Given the description of an element on the screen output the (x, y) to click on. 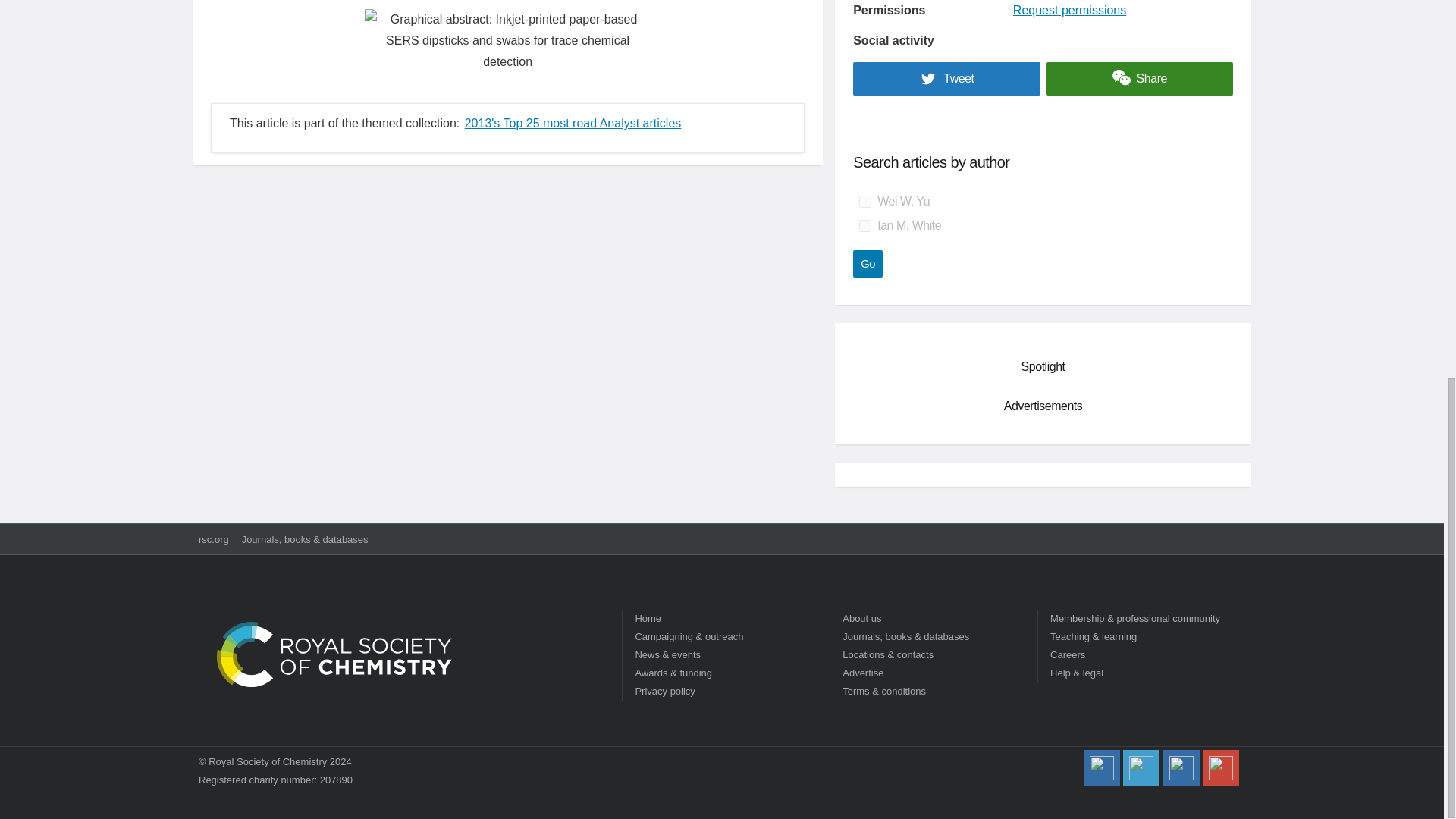
Go (867, 263)
2013's Top 25 most read Analyst articles (572, 123)
Go (867, 263)
on (864, 201)
Request permissions (1068, 10)
on (864, 225)
Tweet (946, 78)
